Given the description of an element on the screen output the (x, y) to click on. 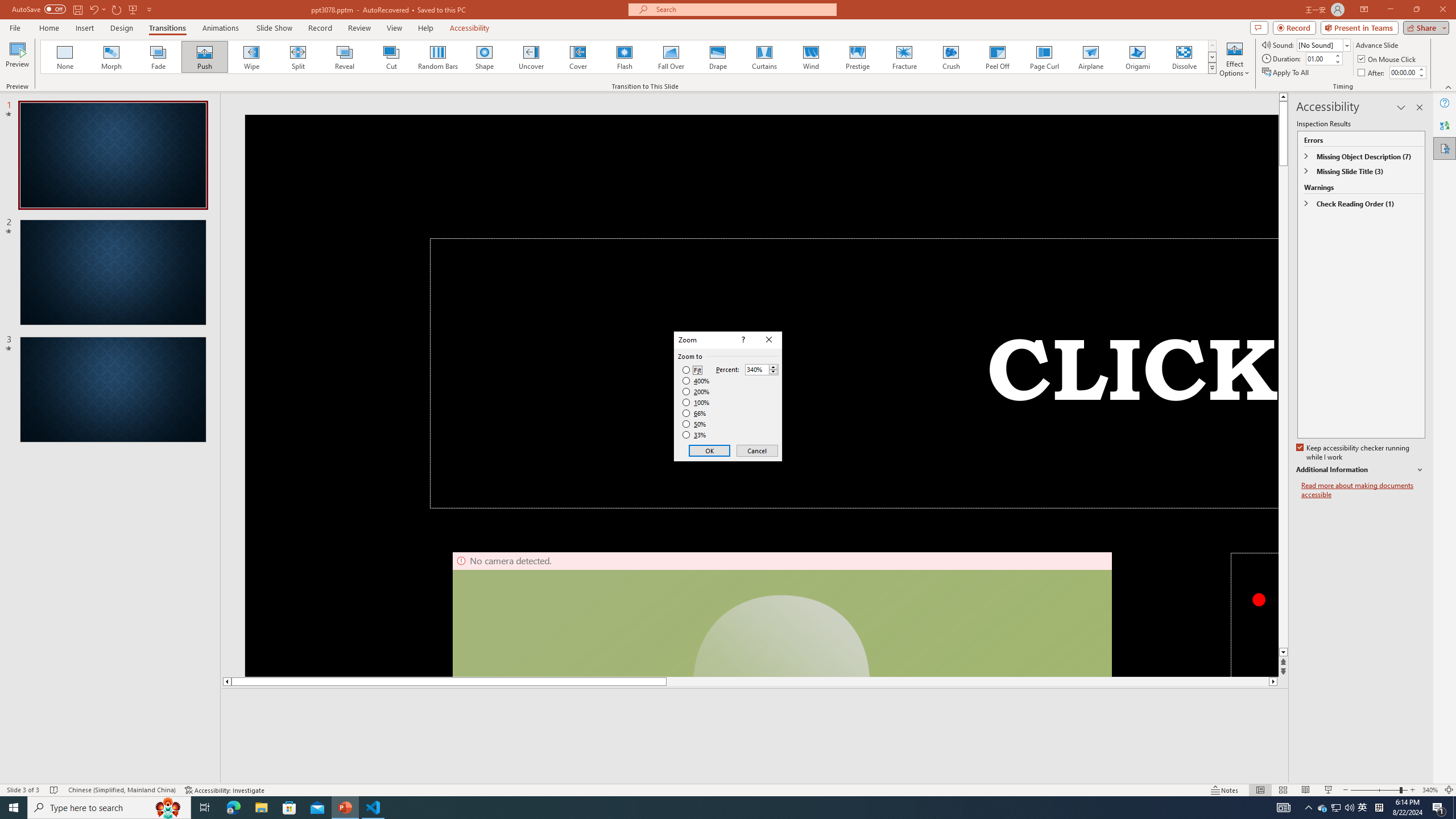
Percent (756, 369)
AutomationID: AnimationTransitionGallery (628, 56)
50% (694, 424)
Apply To All (1286, 72)
Uncover (531, 56)
